Given the description of an element on the screen output the (x, y) to click on. 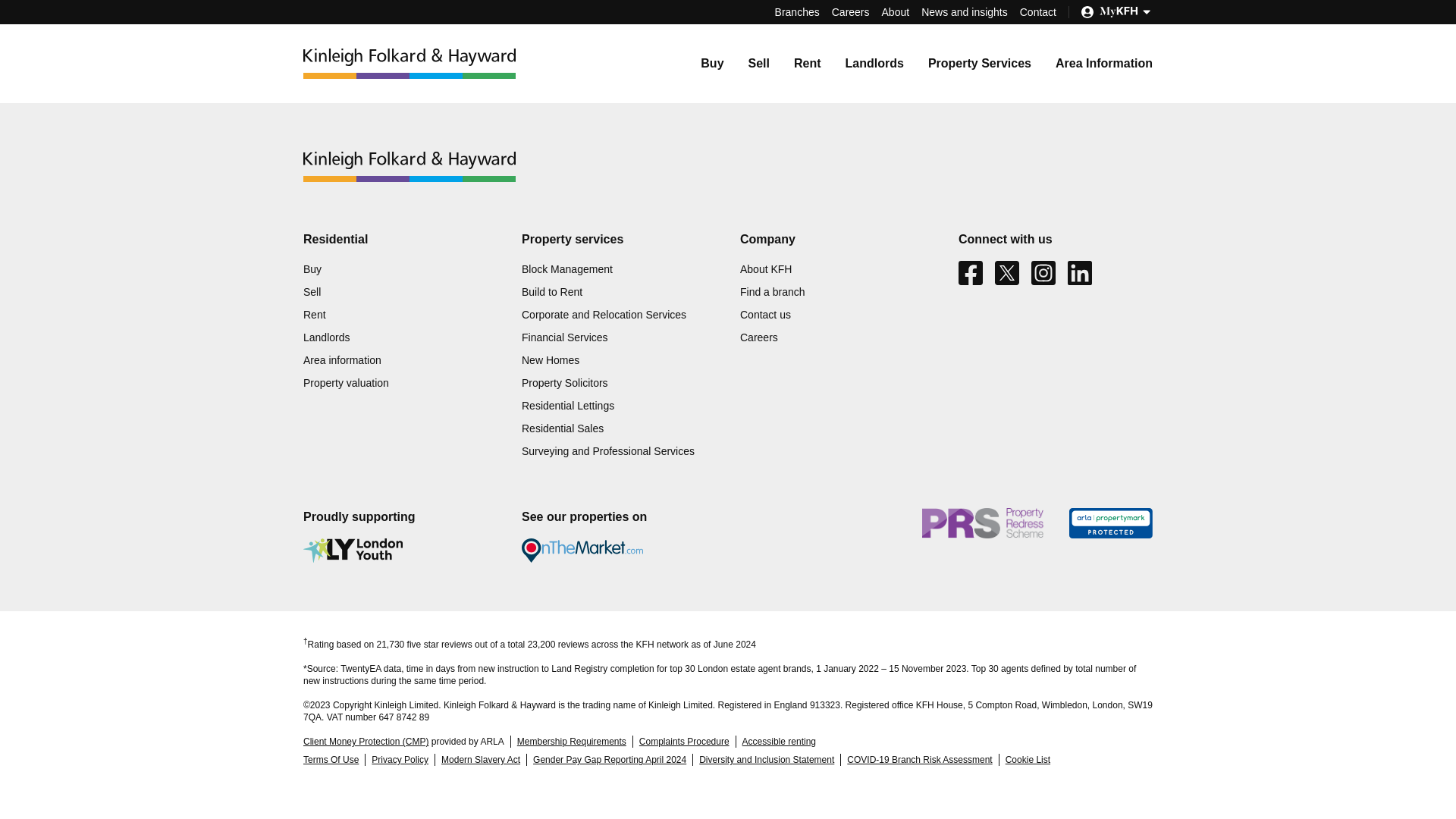
Rent (314, 314)
Property Services (979, 62)
Residential (335, 239)
Area information (341, 359)
Property services (572, 239)
Contact (1038, 11)
Sell (759, 62)
About (896, 11)
Landlords (326, 337)
Buy (311, 268)
Buy (711, 62)
News and insights (964, 11)
Block Management (566, 268)
Careers (850, 11)
Financial Services (564, 337)
